Given the description of an element on the screen output the (x, y) to click on. 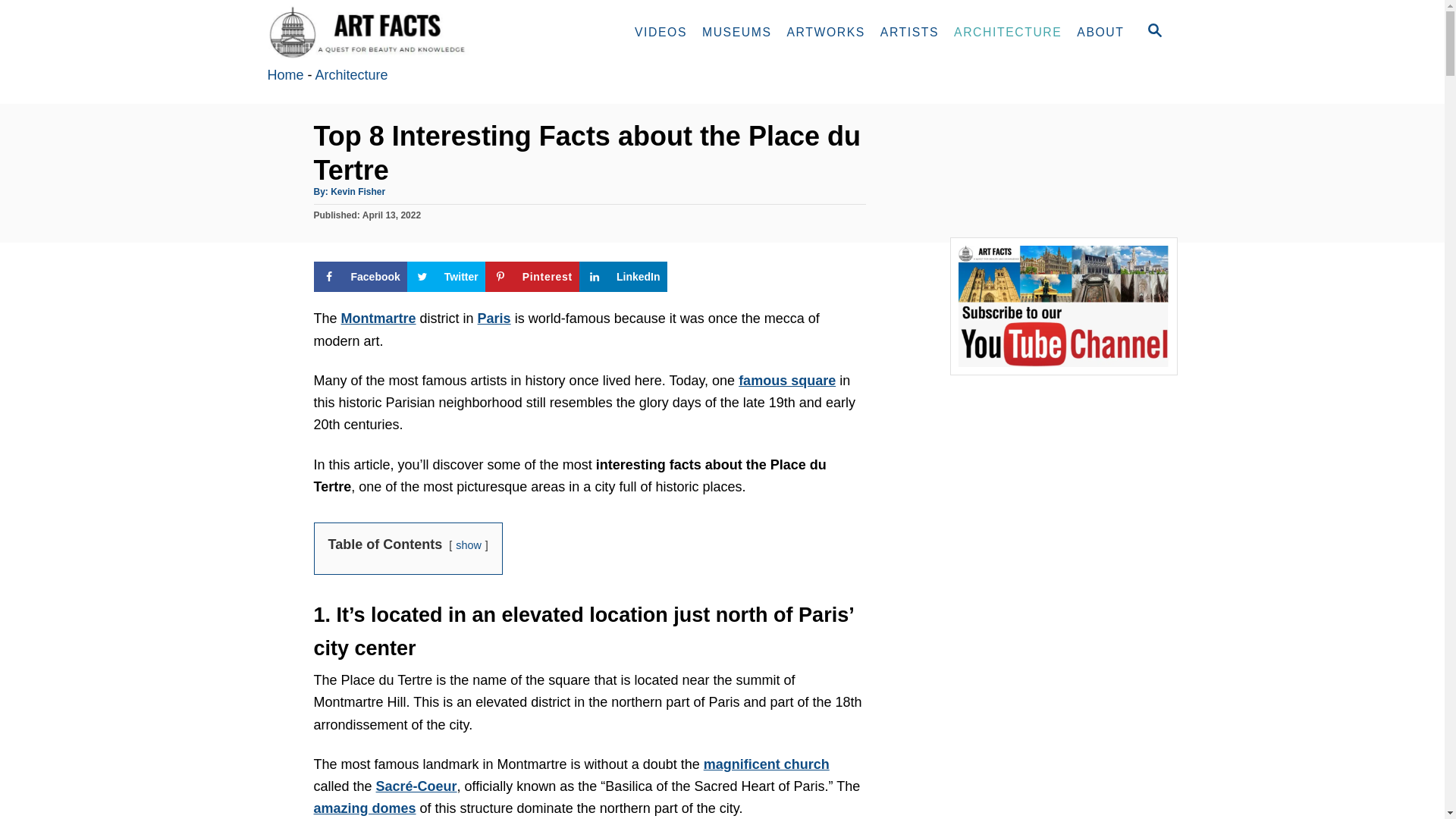
Facebook (360, 276)
Home (284, 74)
ABOUT (1099, 32)
LinkedIn (622, 276)
Twitter (445, 276)
Share on Facebook (360, 276)
amazing domes (365, 807)
show (468, 544)
ARCHITECTURE (1007, 32)
Share on Twitter (445, 276)
ARTISTS (909, 32)
SEARCH (1153, 31)
Save to Pinterest (531, 276)
MUSEUMS (736, 32)
Kevin Fisher (357, 191)
